Given the description of an element on the screen output the (x, y) to click on. 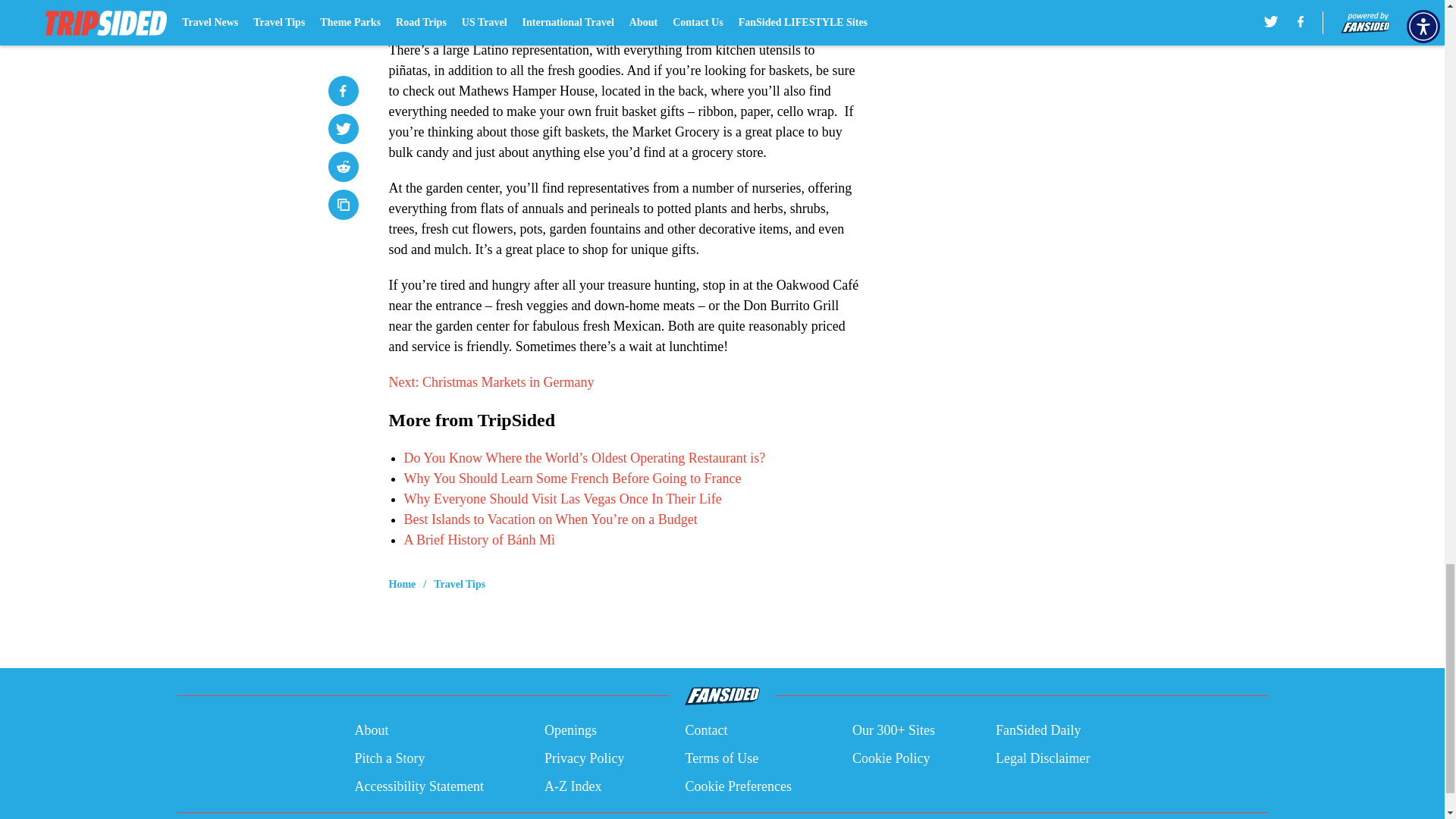
Pitch a Story (389, 758)
Openings (570, 730)
Travel Tips (458, 584)
Next: Christmas Markets in Germany (491, 381)
FanSided Daily (1038, 730)
About (370, 730)
Home (401, 584)
Privacy Policy (584, 758)
Why Everyone Should Visit Las Vegas Once In Their Life (561, 498)
Contact (705, 730)
Why You Should Learn Some French Before Going to France (572, 478)
